Given the description of an element on the screen output the (x, y) to click on. 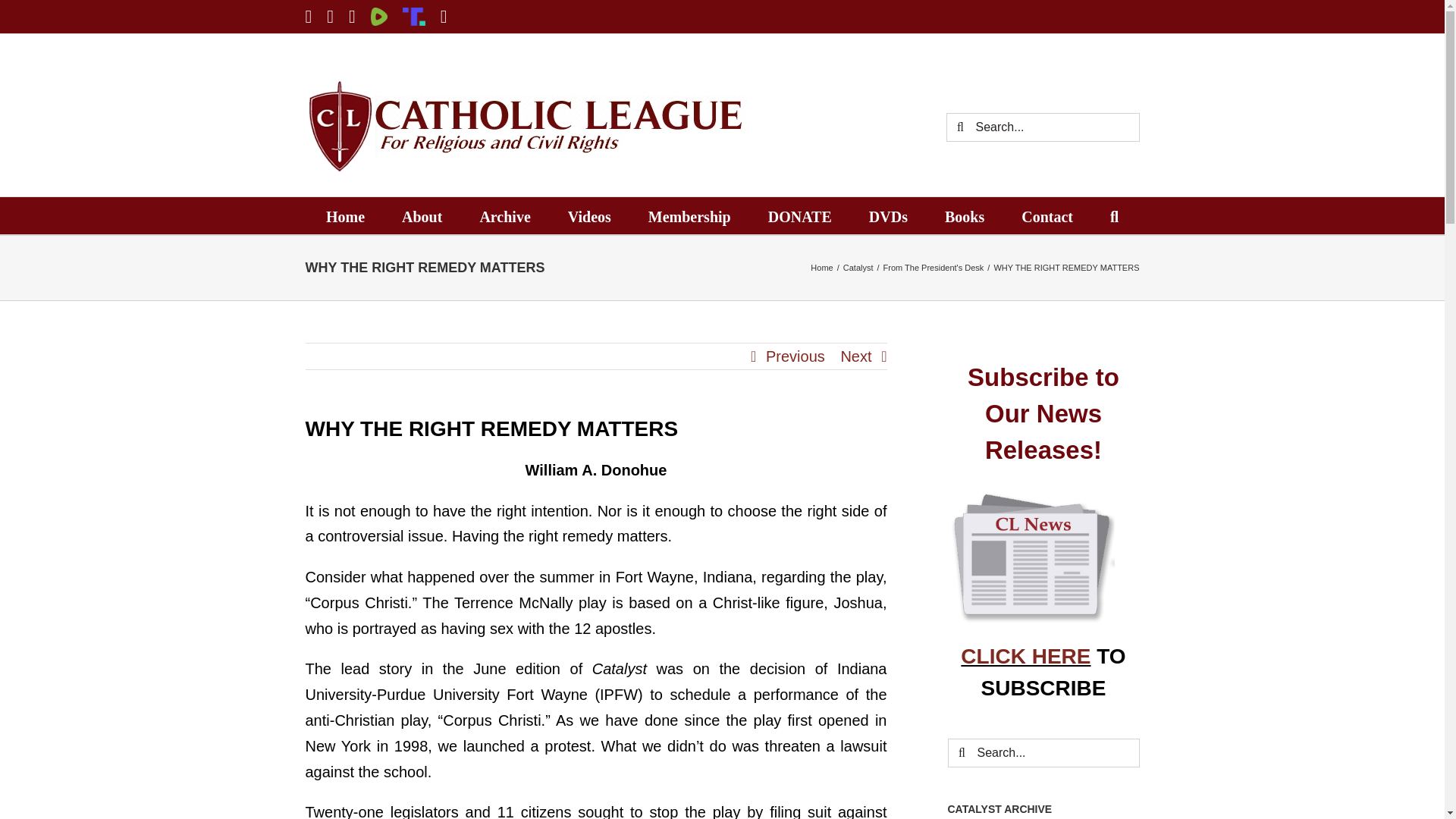
Contact (1047, 215)
Archive (504, 215)
Instagram (443, 16)
Facebook (352, 16)
Rumble (379, 16)
DVDs (888, 215)
DONATE (799, 215)
About (421, 215)
Books (964, 215)
Home (345, 215)
Videos (589, 215)
Membership (688, 215)
Truth Social (414, 16)
Search (1113, 215)
X (307, 16)
